Given the description of an element on the screen output the (x, y) to click on. 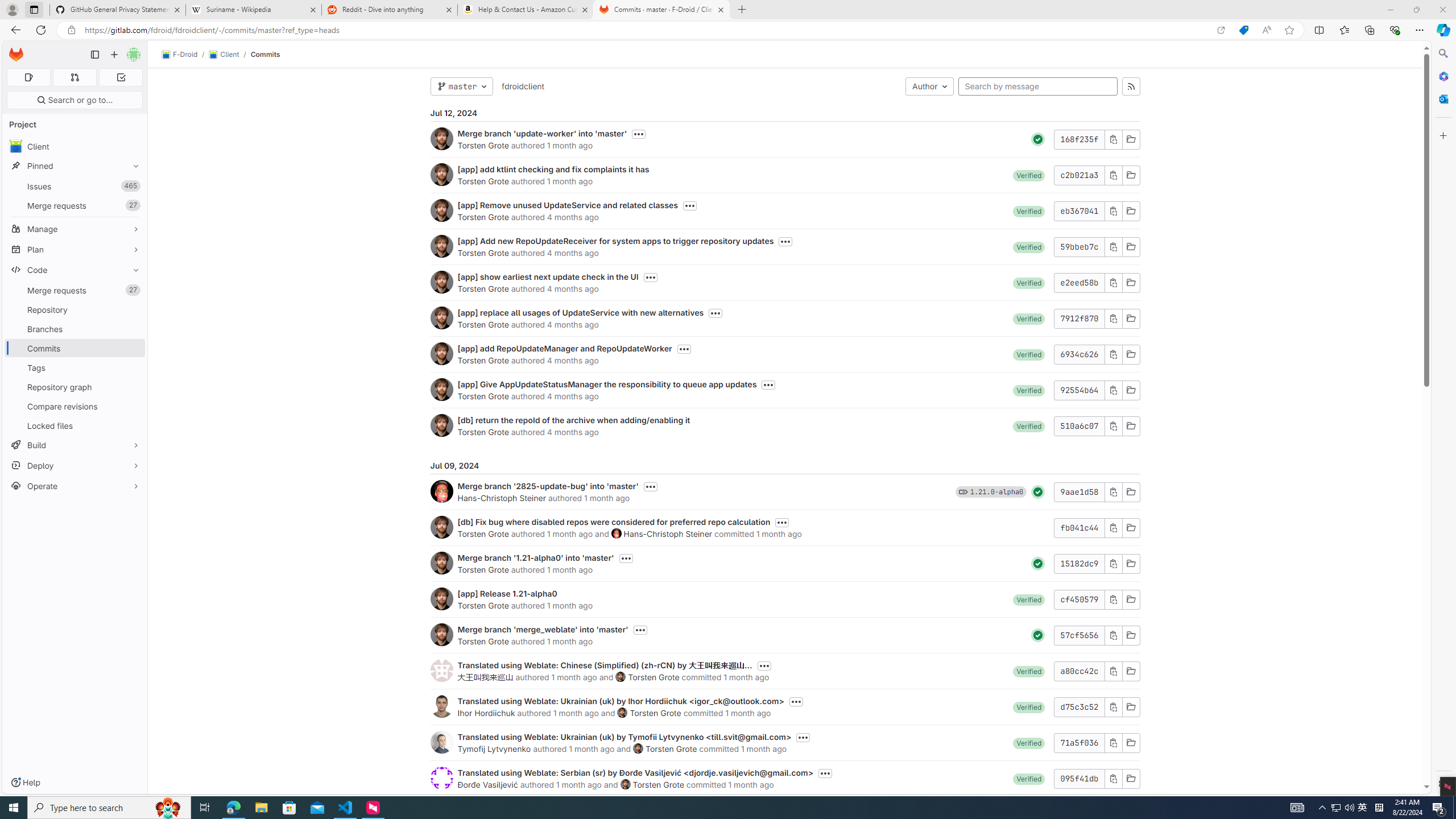
Visual Studio Code - 1 running window (345, 807)
Tray Input Indicator - Chinese (Simplified, China) (1378, 807)
Merge requests 0 (1335, 807)
User Promoted Notification Area (74, 76)
Reddit - Dive into anything (1342, 807)
View site information (390, 9)
Task View (70, 29)
Pinned (204, 807)
